Given the description of an element on the screen output the (x, y) to click on. 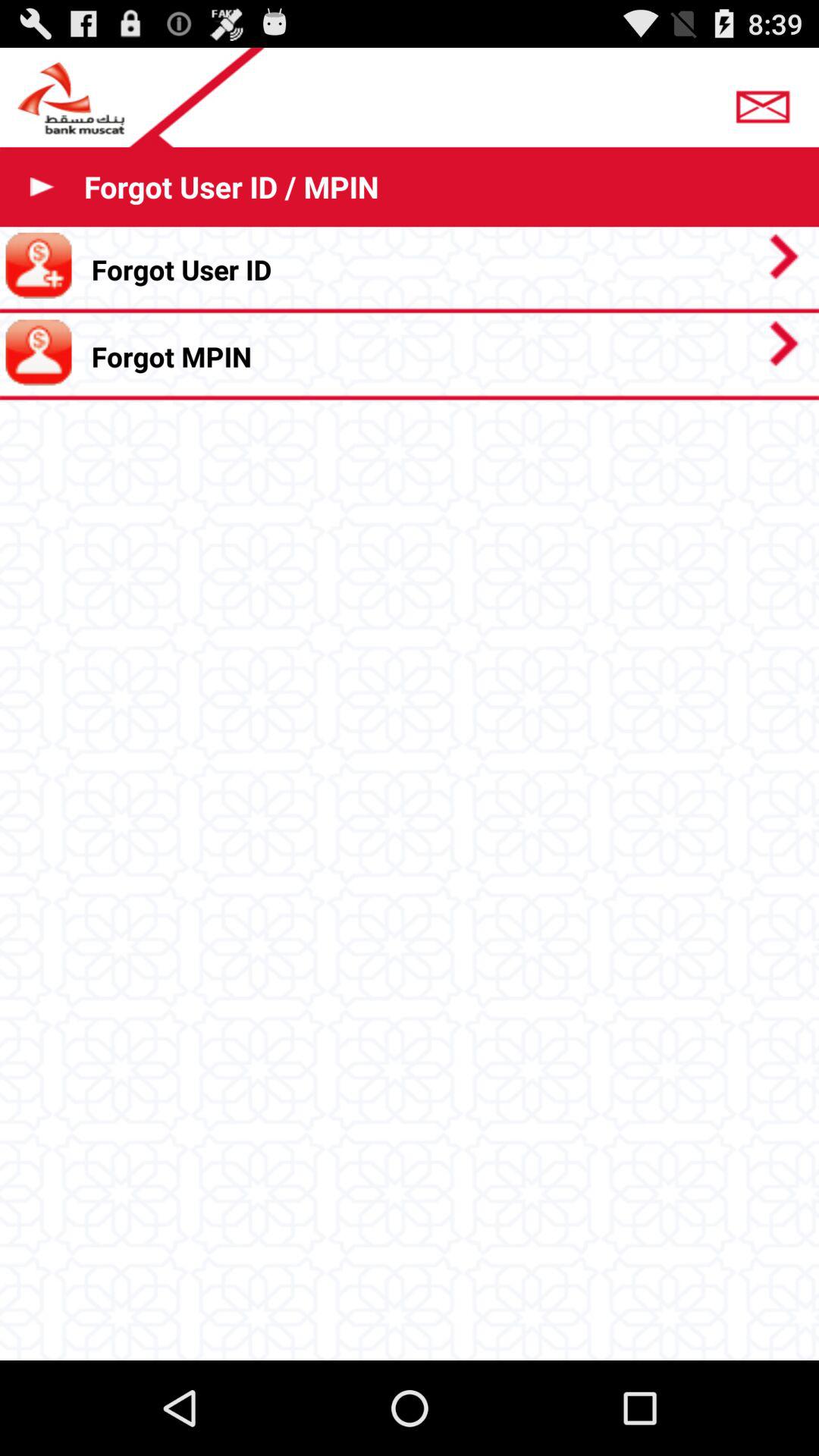
tap app above the forgot user id icon (767, 101)
